Given the description of an element on the screen output the (x, y) to click on. 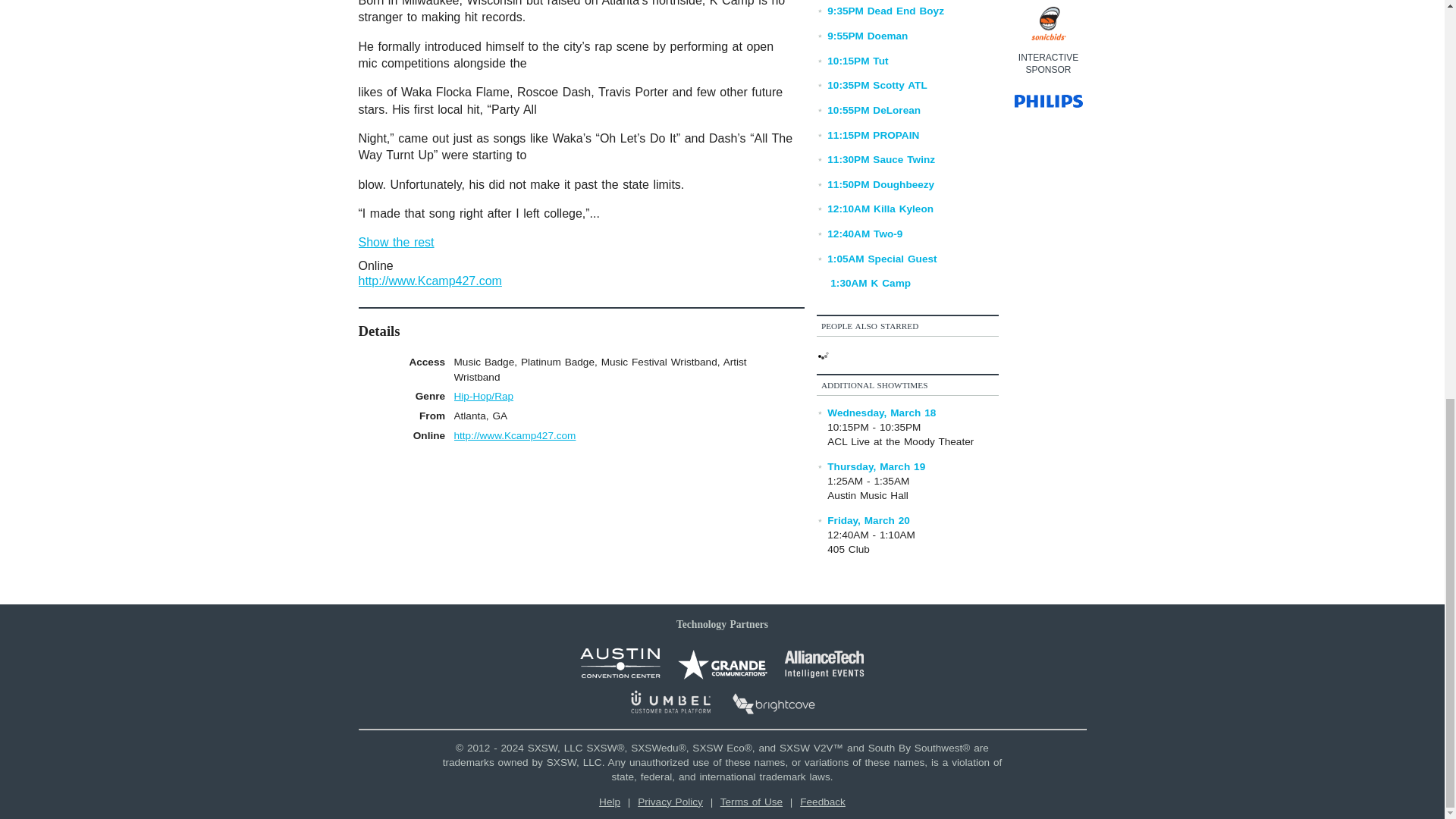
Show the rest (395, 241)
